Given the description of an element on the screen output the (x, y) to click on. 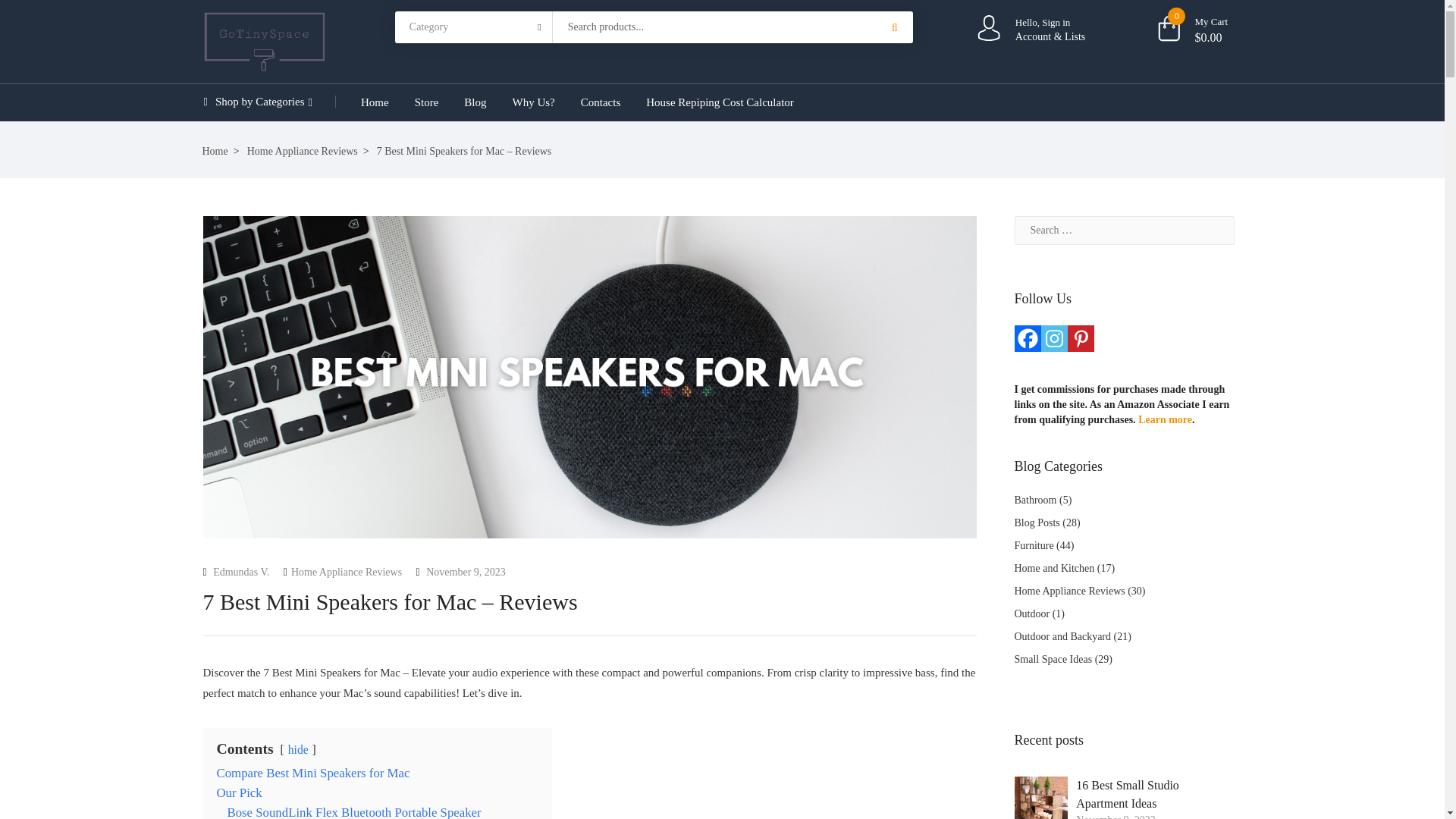
Contacts (600, 102)
Edmundas V. (236, 572)
Compare Best Mini Speakers for Mac (313, 772)
Bose SoundLink Flex Bluetooth Portable Speaker (354, 812)
Home Appliance Reviews (308, 151)
Home (374, 102)
Home (220, 151)
Home Appliance Reviews (346, 572)
Our Pick (239, 792)
hide (298, 748)
View your shopping cart (1209, 37)
Shop by Categories (268, 102)
My Cart (1224, 22)
Blog (475, 102)
Store (426, 102)
